Given the description of an element on the screen output the (x, y) to click on. 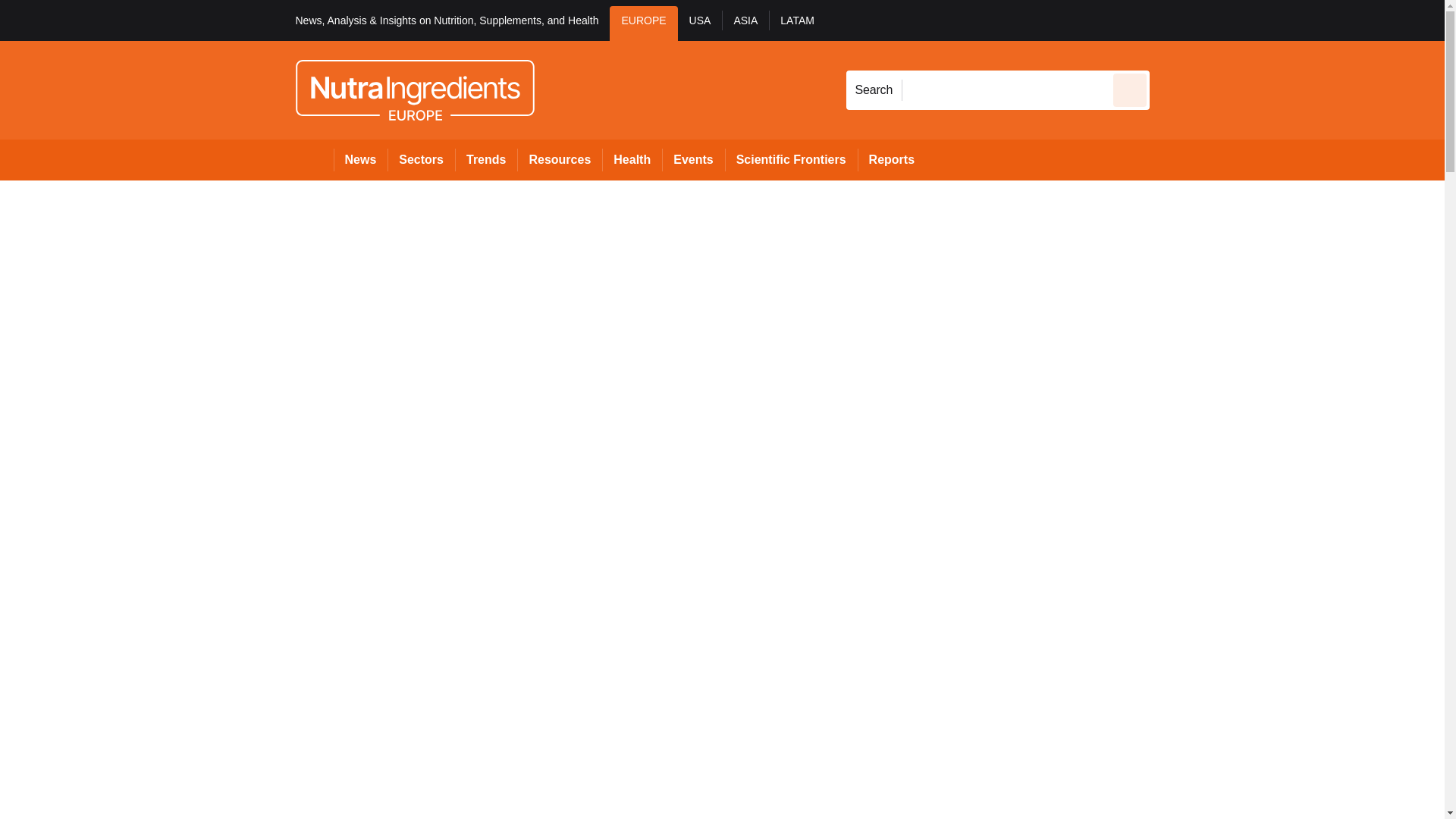
SUBSCRIBE (1362, 20)
Home (314, 159)
EUROPE (643, 22)
Send (1129, 89)
ASIA (745, 22)
USA (700, 22)
News (360, 159)
Register (1231, 20)
Send (1129, 90)
Sign in (1171, 20)
NutraIngredients Europe (414, 89)
Sign out (1174, 20)
Home (313, 159)
LATAM (796, 22)
My account (1256, 20)
